Given the description of an element on the screen output the (x, y) to click on. 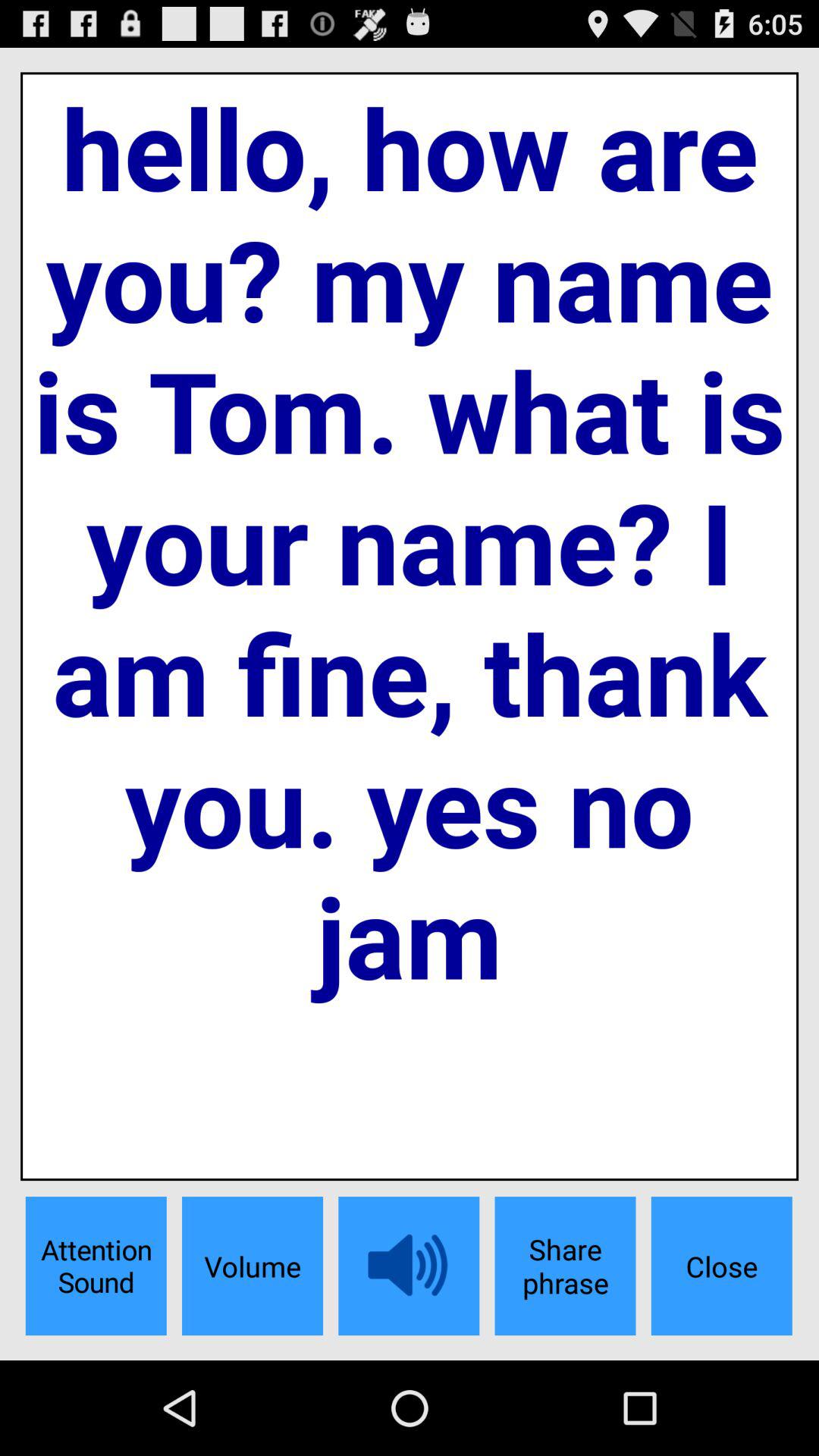
turn on the app below hello how are item (252, 1265)
